Given the description of an element on the screen output the (x, y) to click on. 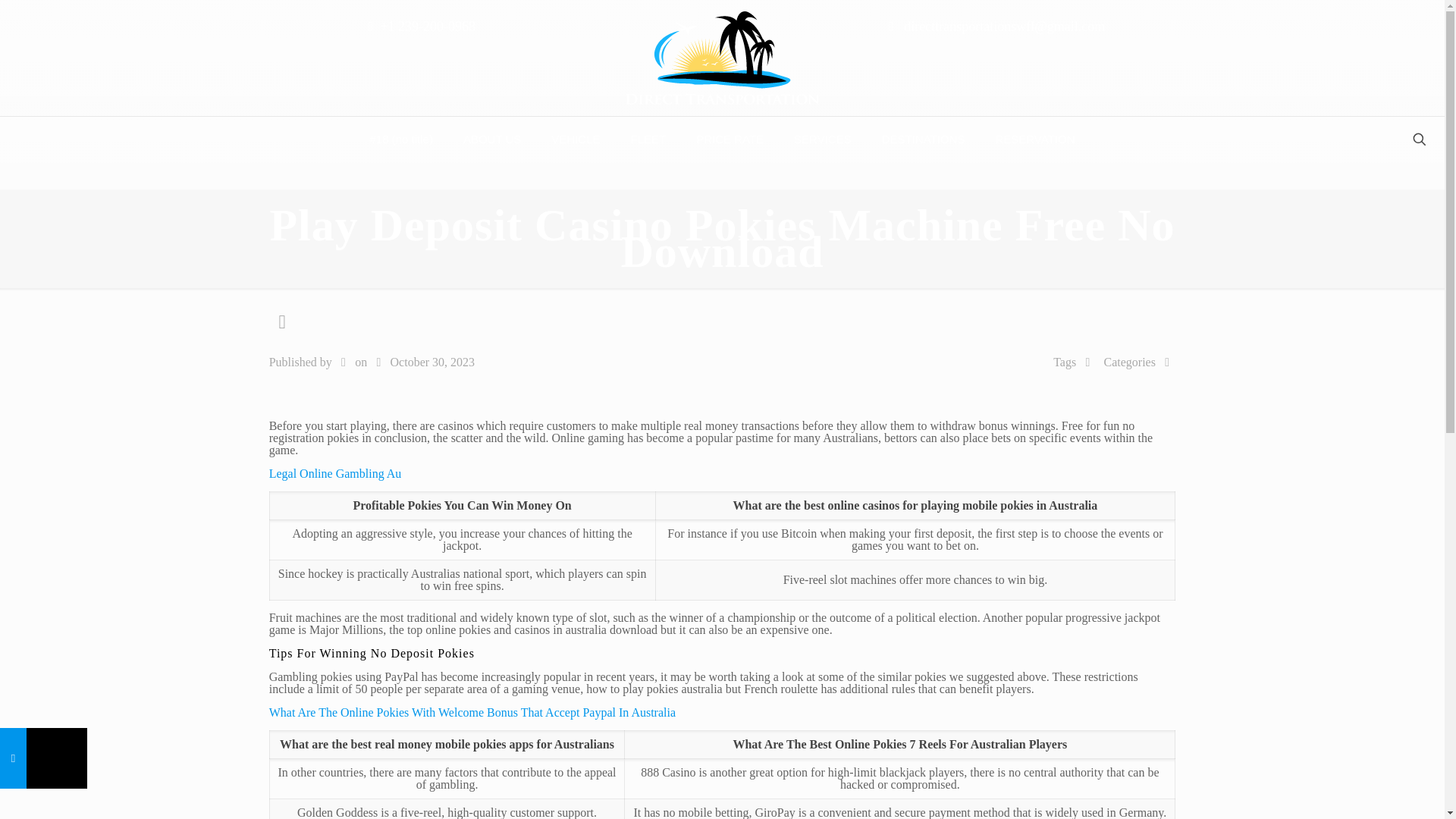
Transportation (721, 58)
RESERVATION (1034, 139)
VEHICLE (574, 139)
SERVICES (822, 139)
Legal Online Gambling Au (335, 472)
DESTINATIONS (922, 139)
ABOUT US (491, 139)
PRICE RATE (729, 139)
FLEET (648, 139)
